Given the description of an element on the screen output the (x, y) to click on. 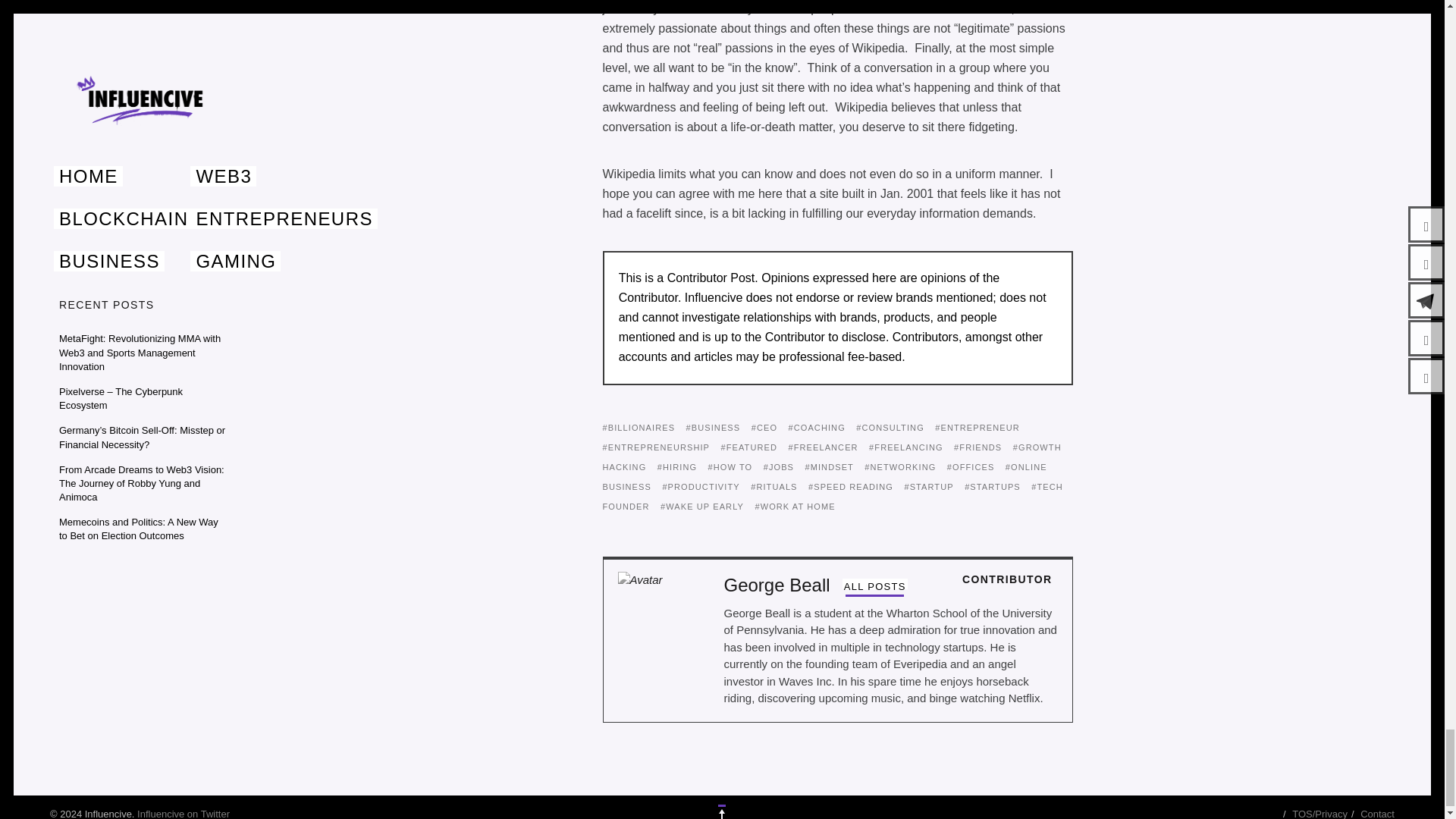
FREELANCING (906, 447)
COACHING (817, 427)
HIRING (677, 466)
FRIENDS (977, 447)
JOBS (777, 466)
ENTREPRENEUR (977, 427)
BUSINESS (713, 427)
CEO (764, 427)
View all posts by George Beall (875, 586)
HOW TO (729, 466)
ENTREPRENEURSHIP (656, 447)
FEATURED (748, 447)
FREELANCER (822, 447)
CONSULTING (890, 427)
GROWTH HACKING (831, 457)
